Given the description of an element on the screen output the (x, y) to click on. 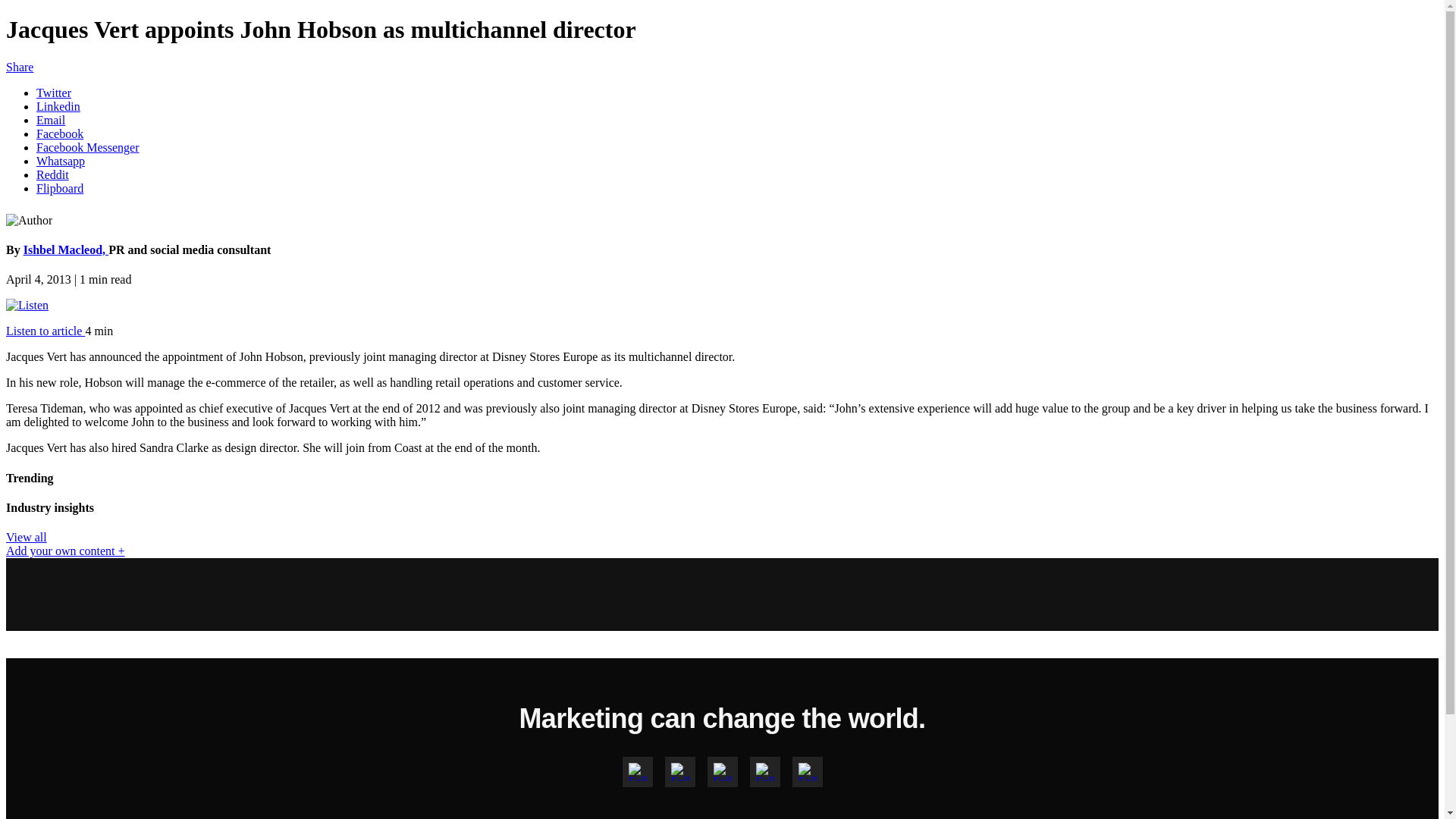
View all (25, 536)
Calendar (634, 817)
Careers (694, 817)
Whatsapp (60, 160)
Advertise with us (549, 817)
Facebook Messenger (87, 146)
Linkedin (58, 106)
Contact (751, 817)
Flipboard (59, 187)
